Given the description of an element on the screen output the (x, y) to click on. 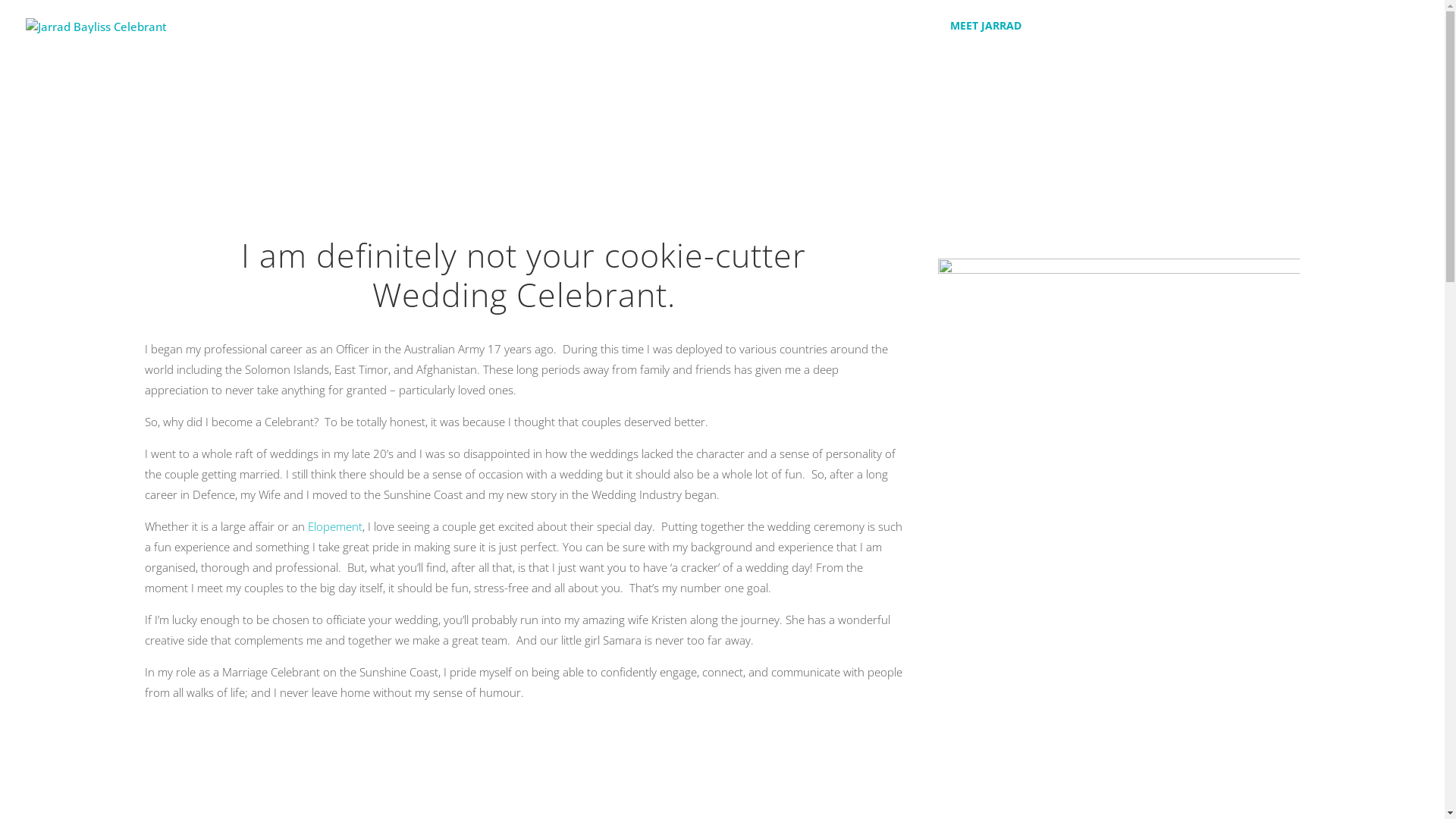
TESTIMONIALS Element type: text (1163, 35)
SEND AN ENQUIRY Element type: text (1271, 35)
Elopement Element type: text (334, 525)
MEET JARRAD Element type: text (985, 35)
SERVICES Element type: text (1072, 35)
CLIENT ACCESS Element type: text (1380, 35)
HOME Element type: text (913, 35)
